Given the description of an element on the screen output the (x, y) to click on. 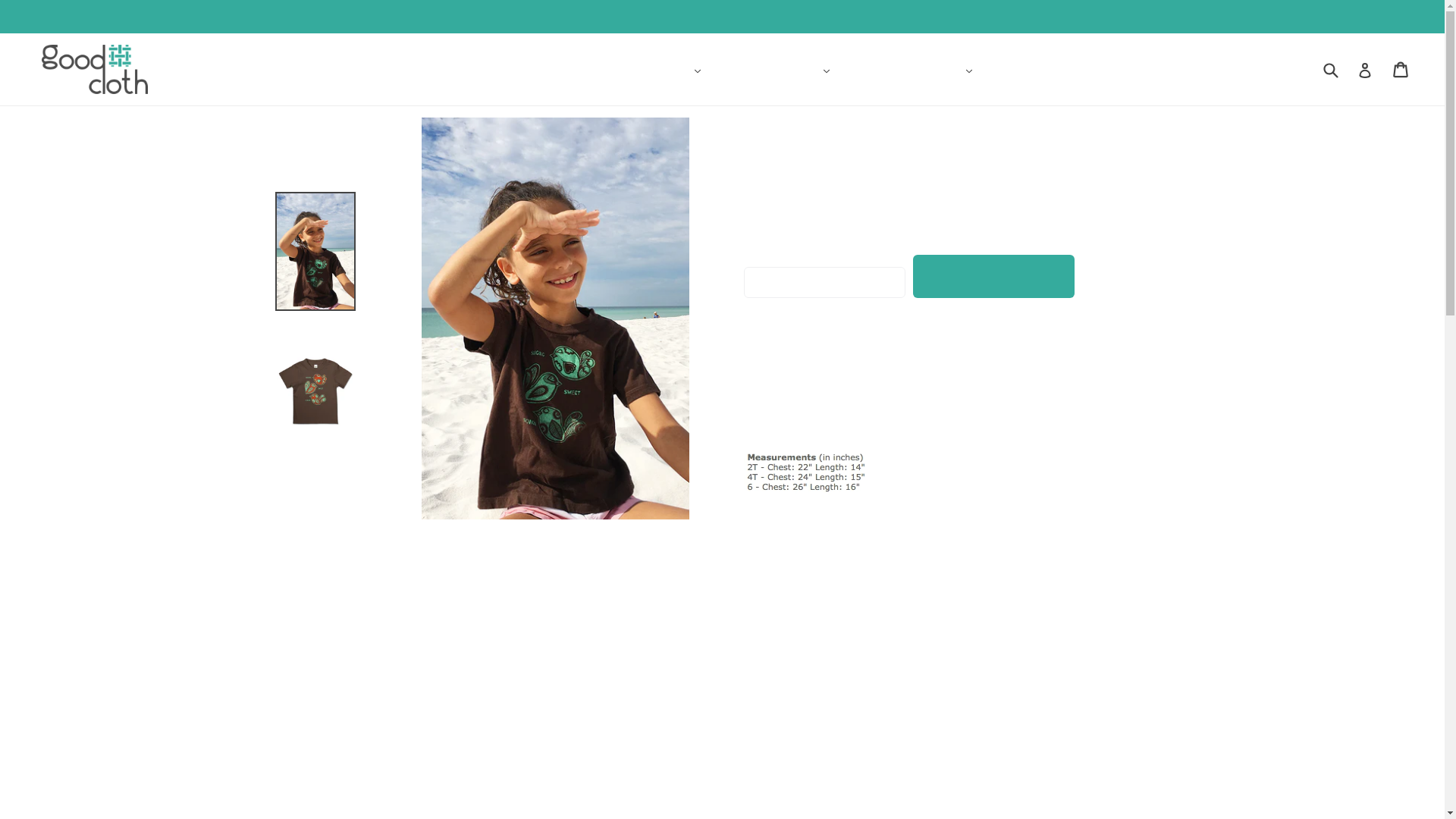
Smile.io Rewards Program Launcher (76, 780)
